Given the description of an element on the screen output the (x, y) to click on. 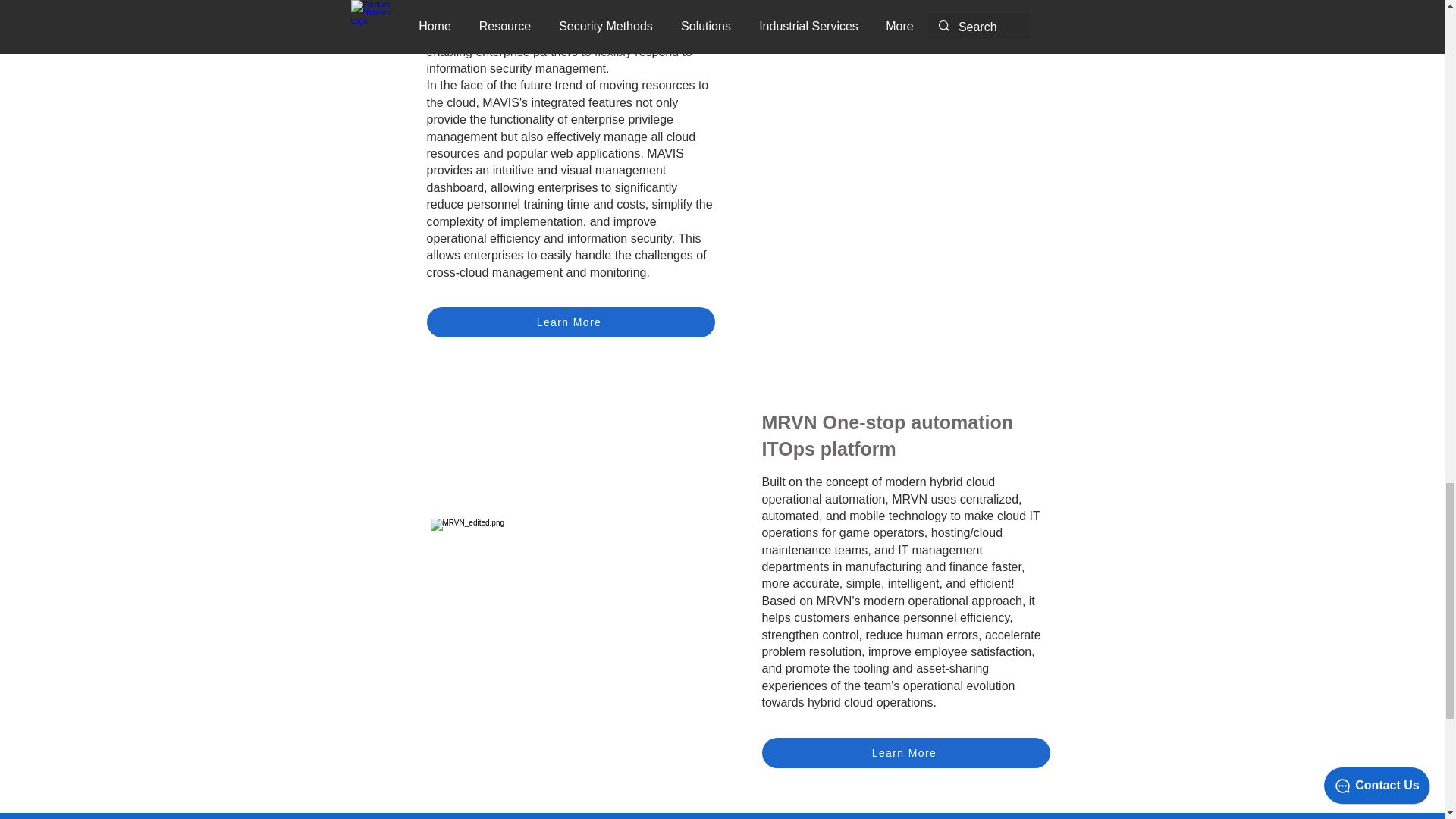
Learn More (905, 752)
Learn More (570, 322)
